Given the description of an element on the screen output the (x, y) to click on. 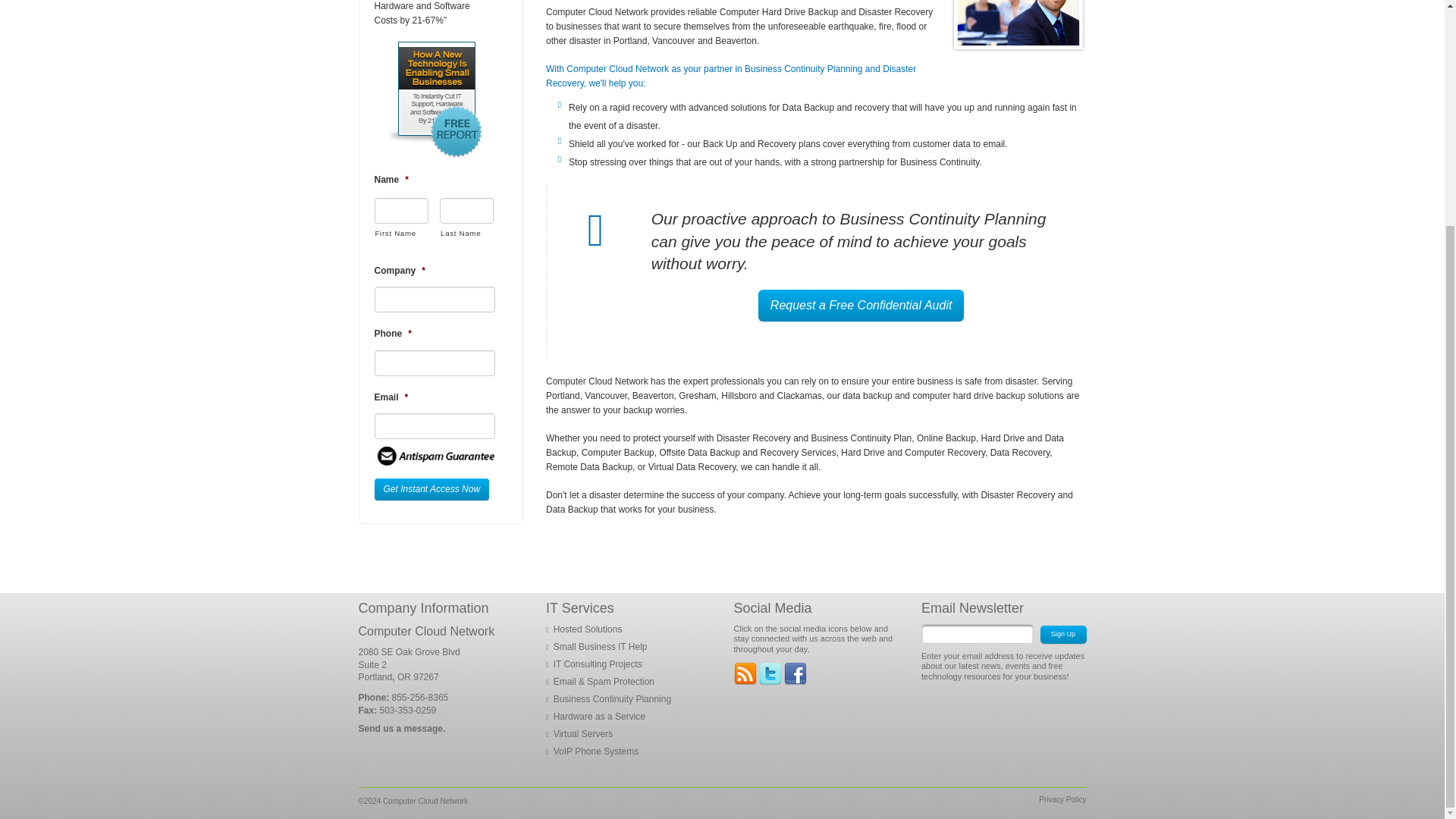
Sign Up (1063, 634)
Request a Free Confidential Audit (860, 305)
IT Consulting Projects (597, 664)
Business Continuity Planning (612, 698)
Virtual Servers (582, 733)
Small Business IT Help (600, 646)
Send us a message. (401, 728)
Hardware as a Service (599, 716)
Get Instant Access Now (431, 489)
